Given the description of an element on the screen output the (x, y) to click on. 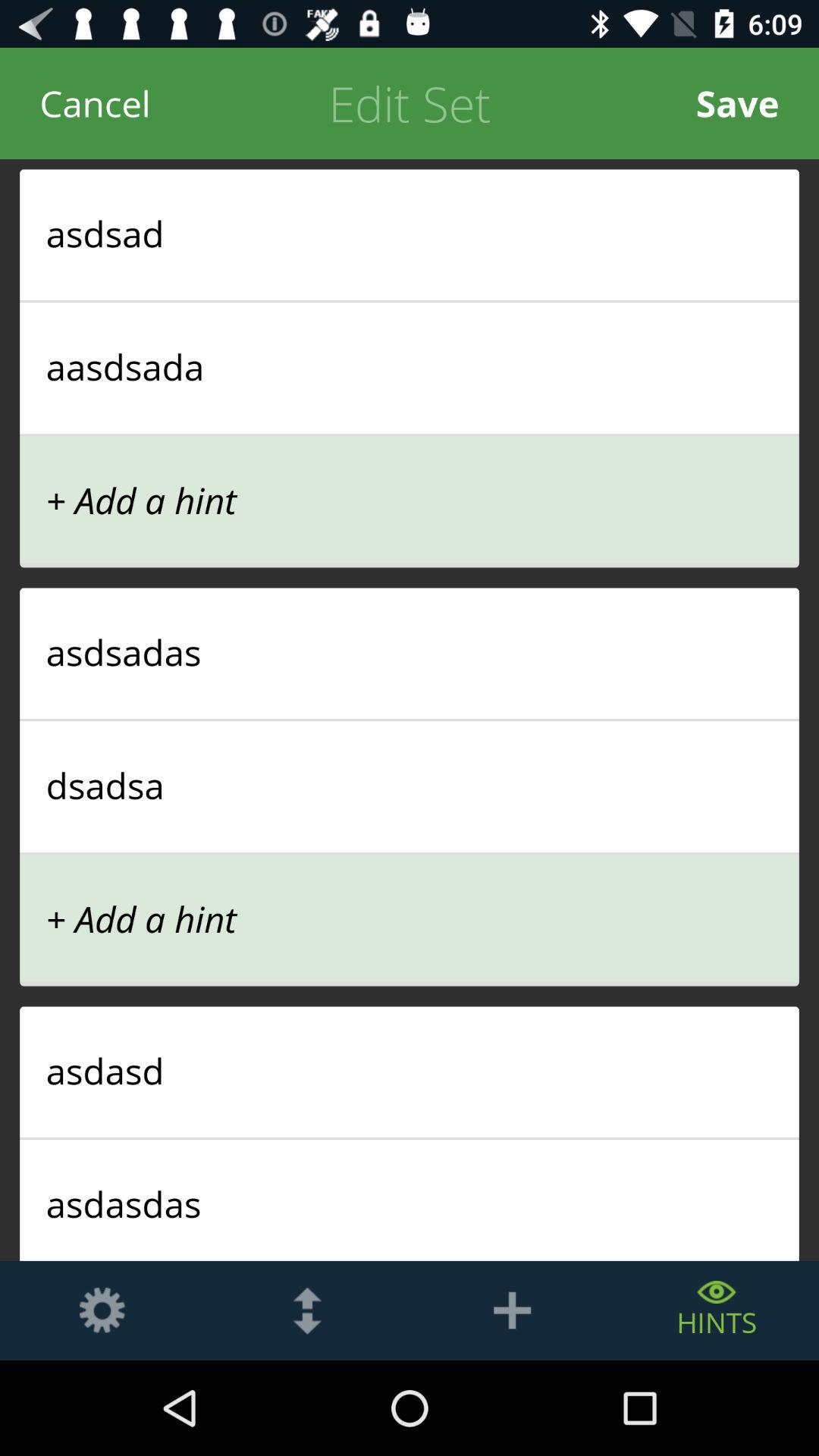
press item above asdsad icon (95, 103)
